Given the description of an element on the screen output the (x, y) to click on. 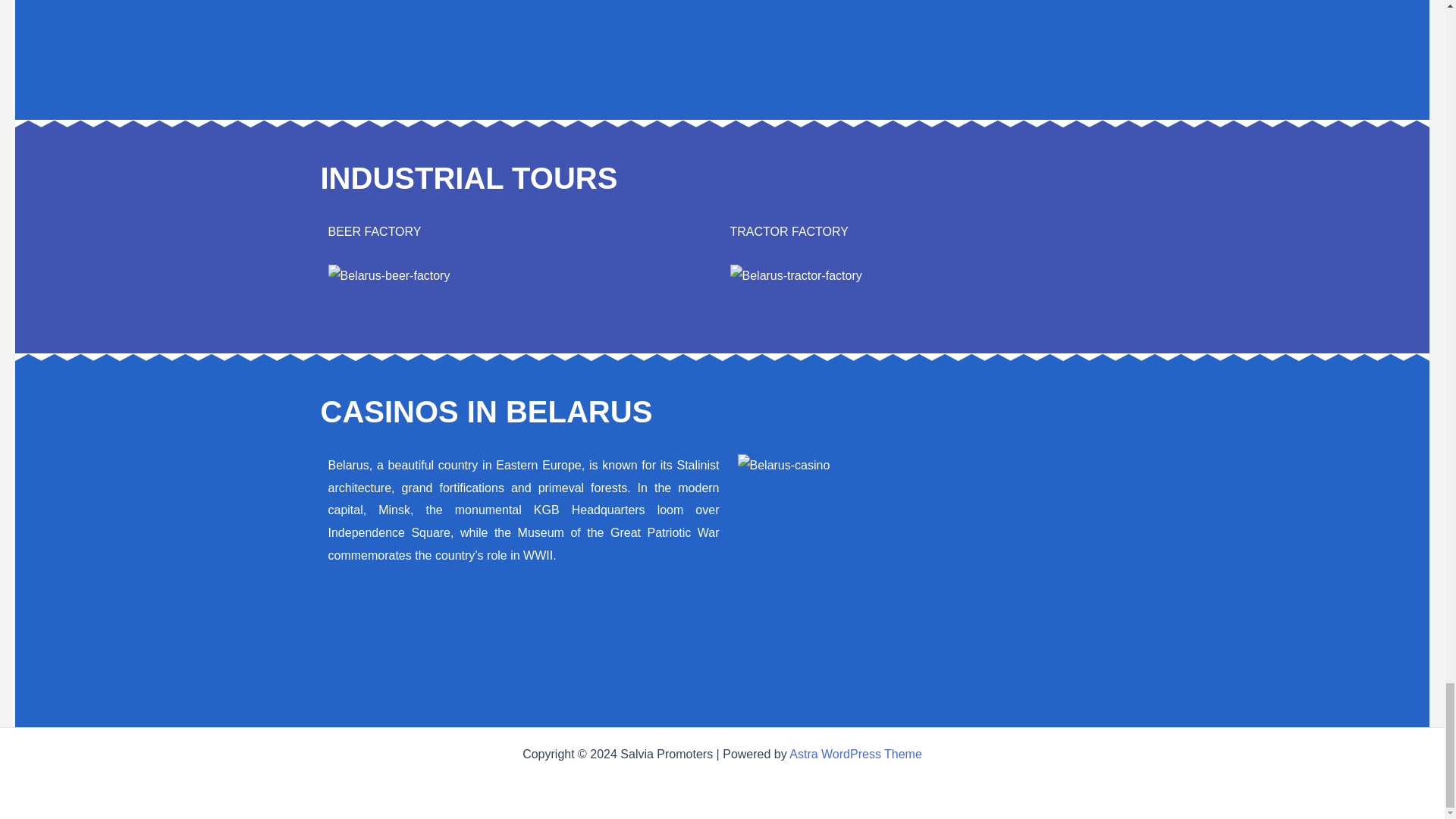
Astra WordPress Theme (855, 753)
